Given the description of an element on the screen output the (x, y) to click on. 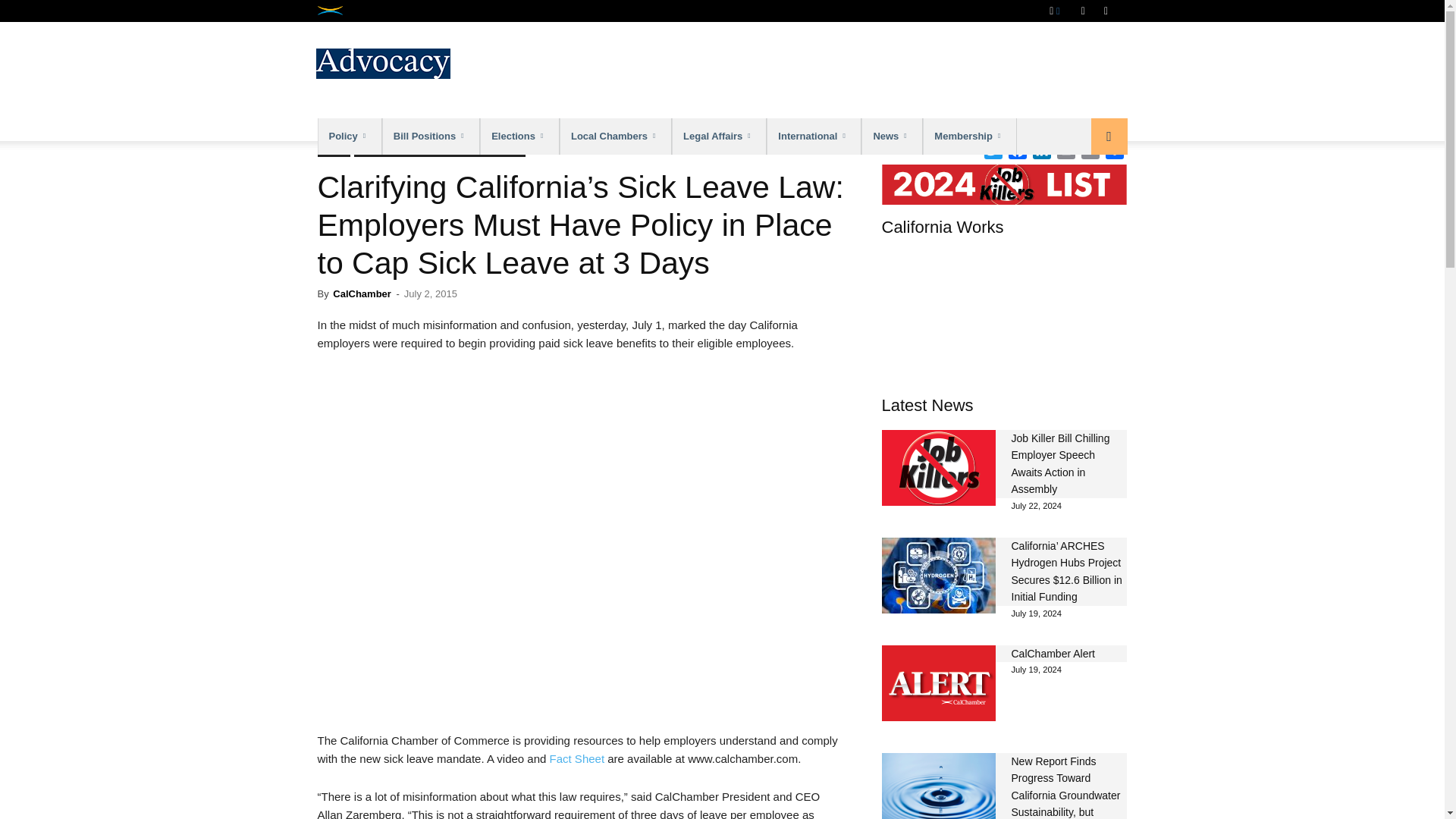
Contact (1102, 10)
